Given the description of an element on the screen output the (x, y) to click on. 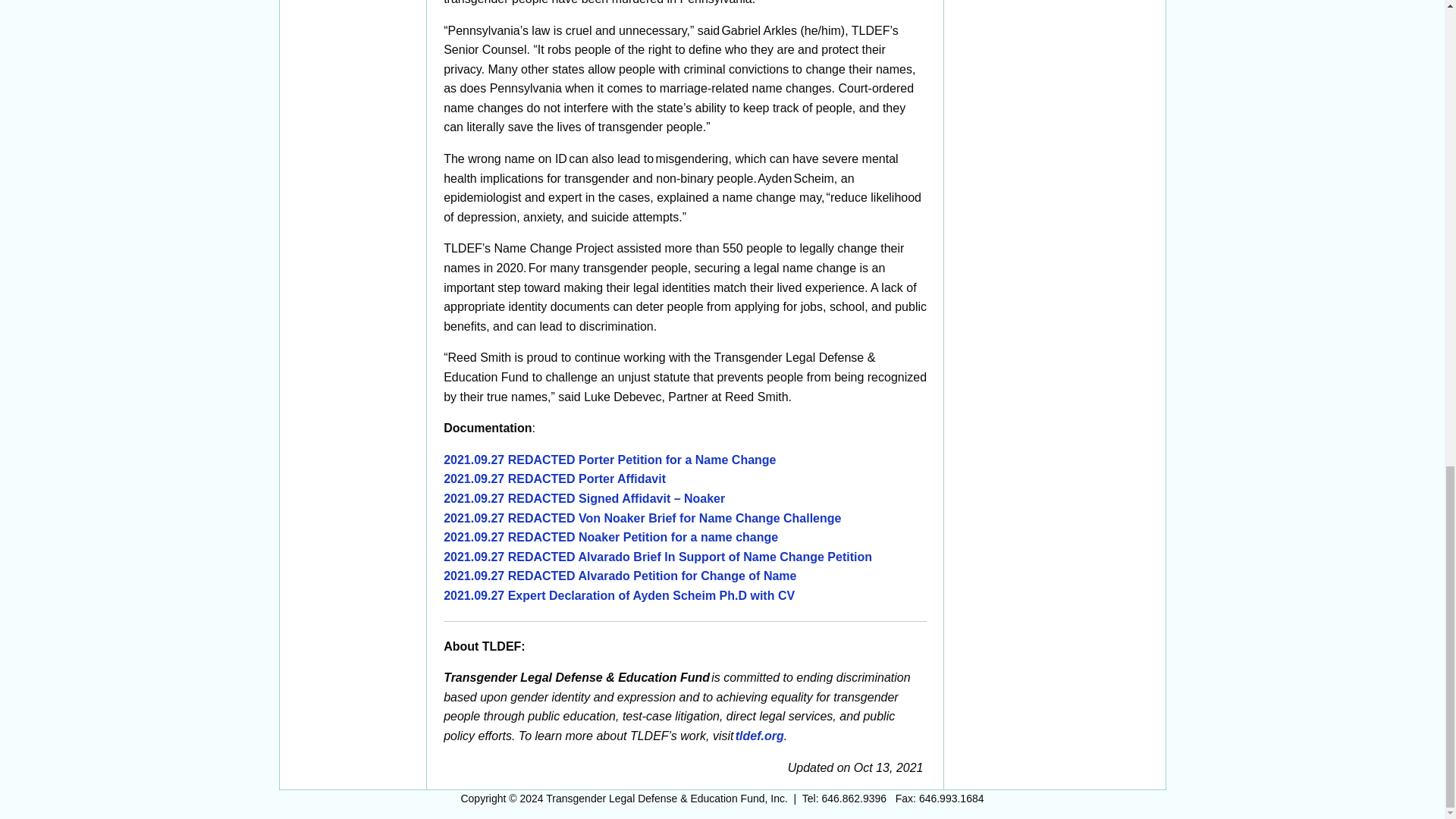
2021.09.27 REDACTED Porter Petition for a Name Change (610, 459)
2021.09.27 REDACTED Porter Affidavit (554, 478)
2021.09.27 Expert Declaration of Ayden Scheim Ph.D with CV (619, 594)
2021.09.27 REDACTED Alvarado Petition for Change of Name (620, 575)
2021.09.27 REDACTED Noaker Petition for a name change (610, 536)
